Given the description of an element on the screen output the (x, y) to click on. 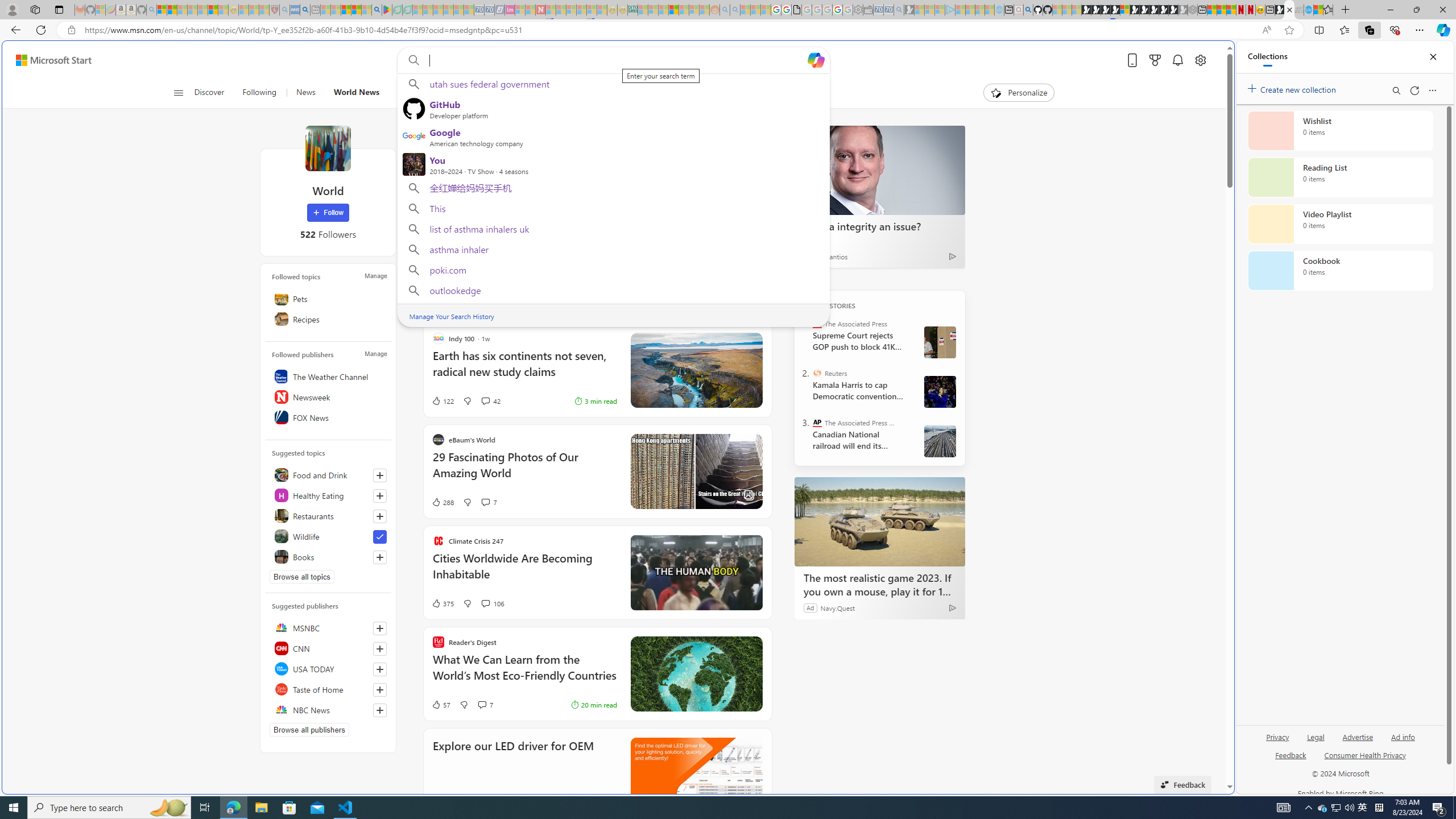
Reading List collection, 0 items (1339, 177)
